Given the description of an element on the screen output the (x, y) to click on. 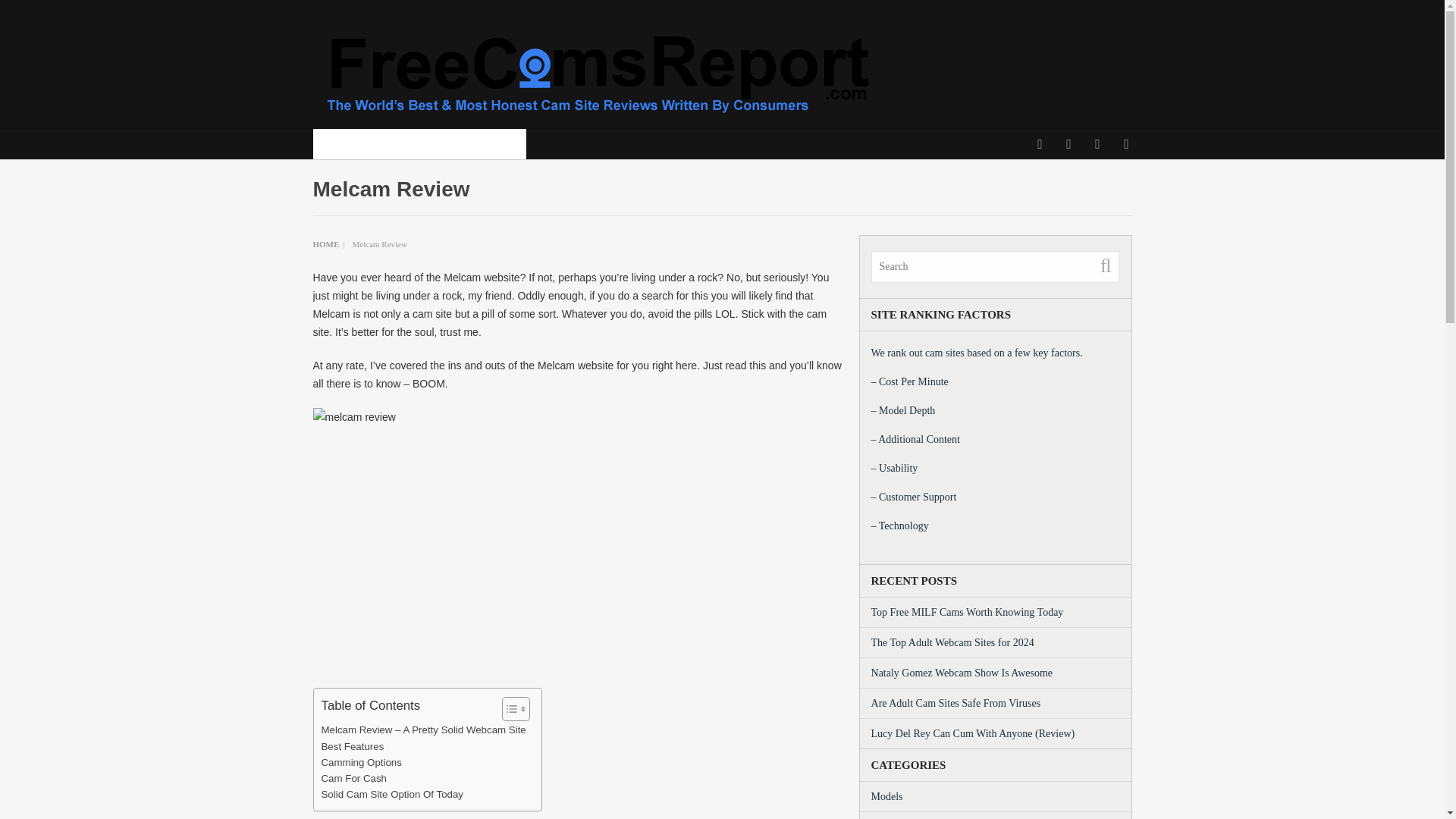
Nataly Gomez Webcam Show Is Awesome (961, 672)
Best Features (352, 746)
Top Free MILF Cams Worth Knowing Today (967, 612)
The Top Adult Webcam Sites for 2024 (951, 642)
HOME (326, 243)
Solid Cam Site Option Of Today (392, 794)
Camming Options (361, 762)
Cam For Cash (354, 778)
HOME (335, 143)
ABOUT (382, 143)
